Given the description of an element on the screen output the (x, y) to click on. 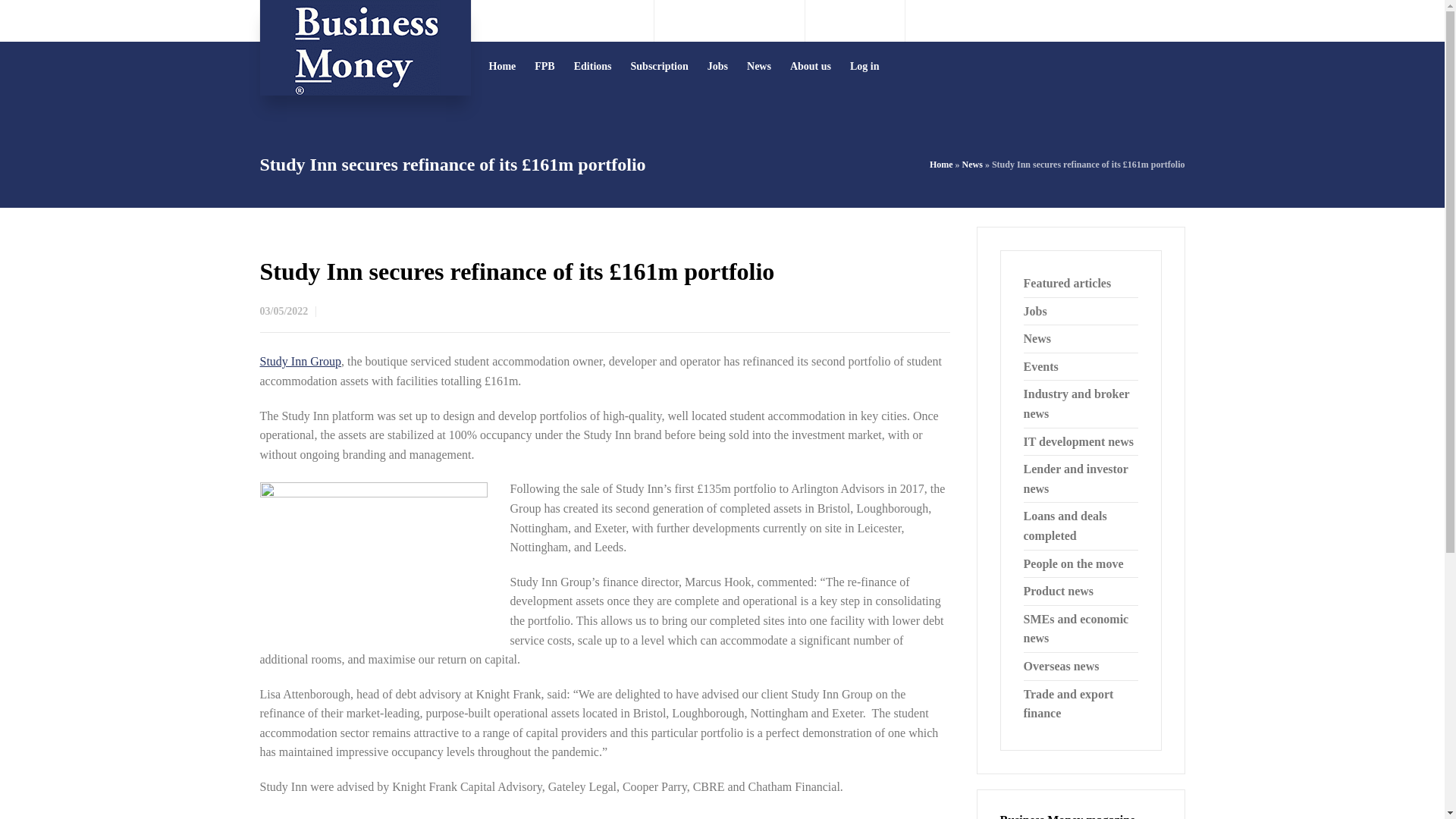
My account (1158, 20)
Study Inn Group (299, 360)
Home (941, 163)
News (972, 163)
Home (502, 65)
Subscription (659, 65)
Editions (592, 65)
Contact us (574, 19)
Linkedin (876, 20)
About us (810, 65)
